Given the description of an element on the screen output the (x, y) to click on. 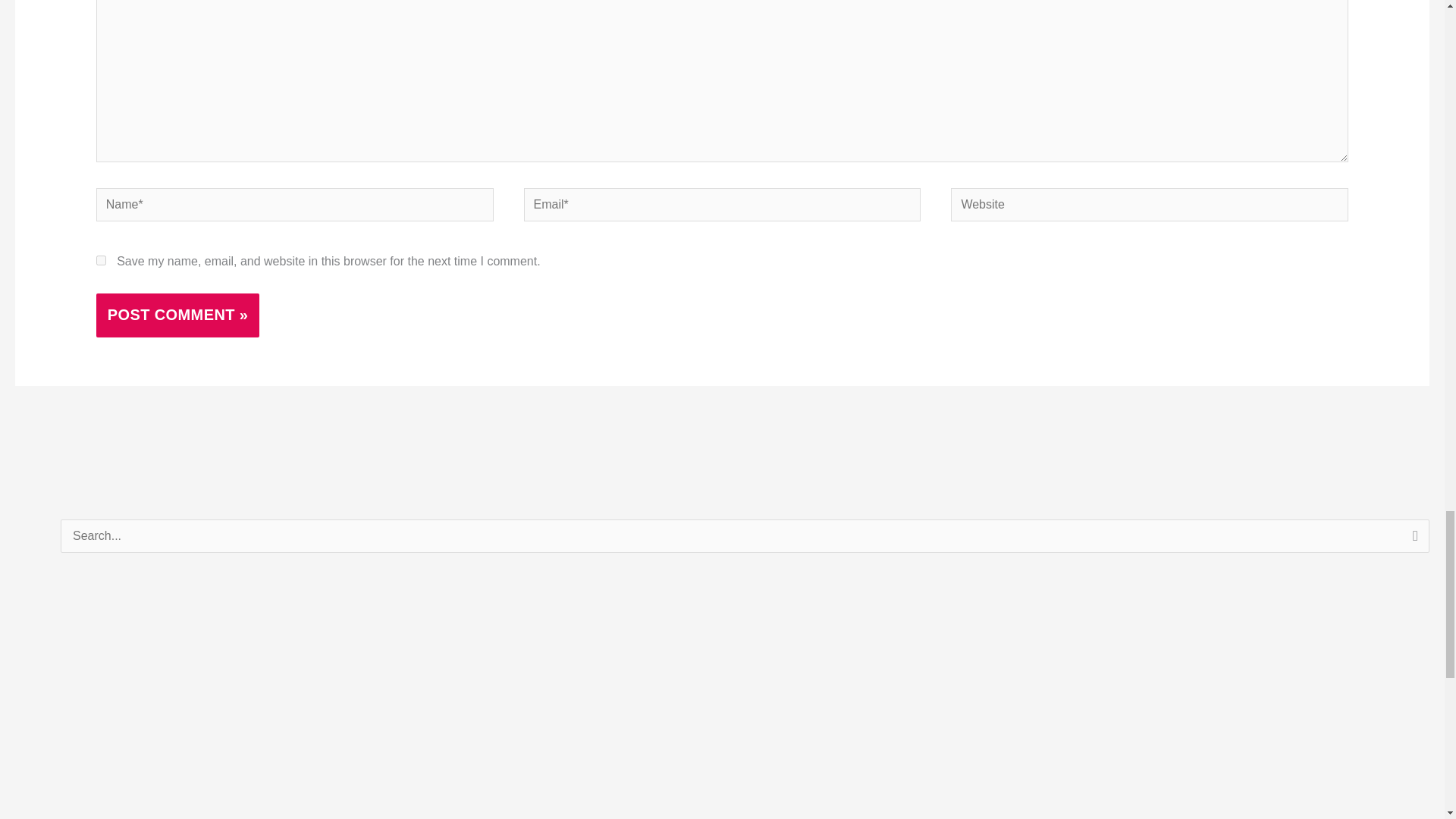
yes (101, 260)
